Given the description of an element on the screen output the (x, y) to click on. 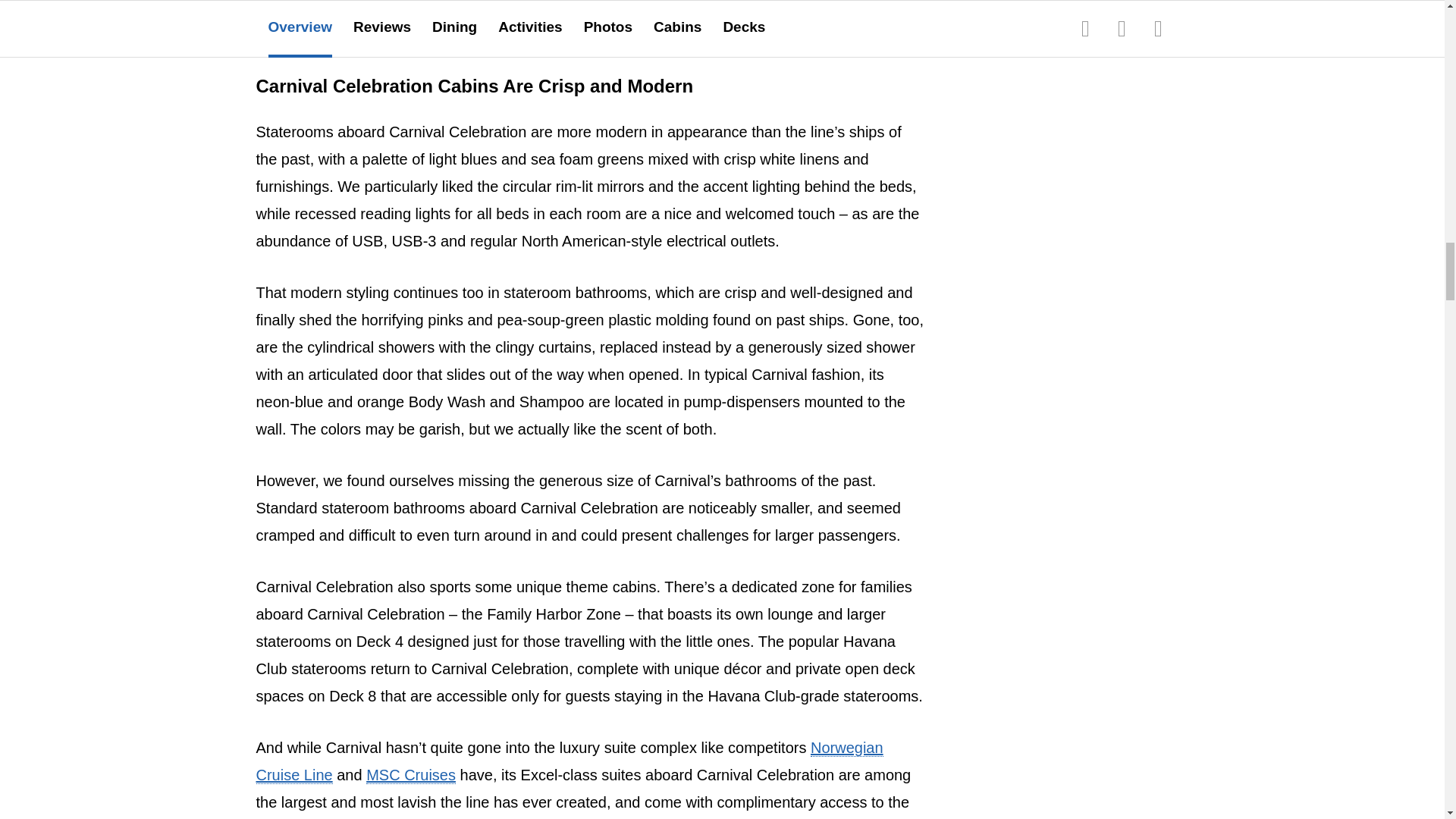
MSC Cruises (410, 774)
Norwegian Cruise Line (569, 761)
